Given the description of an element on the screen output the (x, y) to click on. 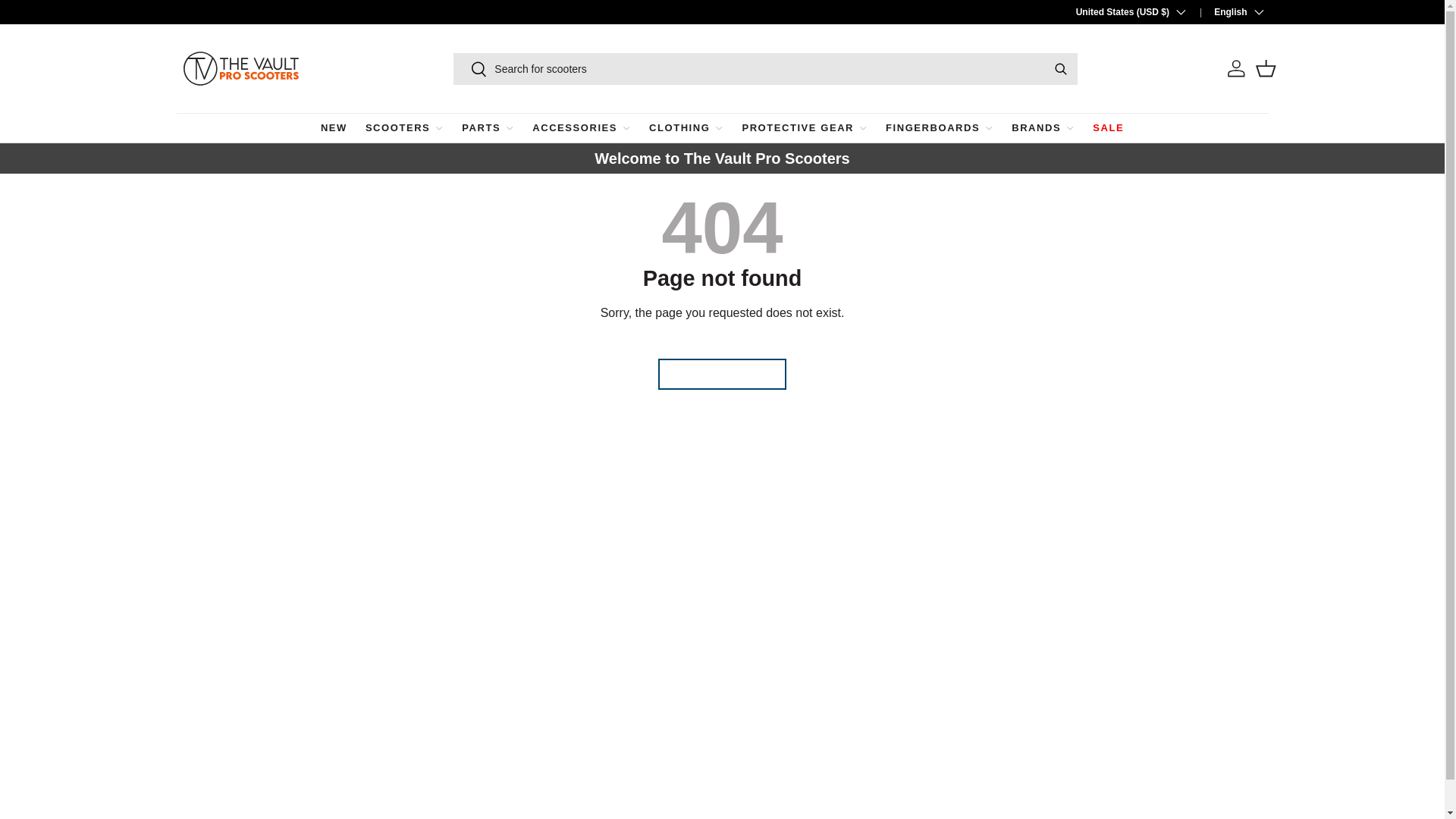
NEW (333, 128)
Search (469, 69)
Basket (1265, 68)
Log in (1235, 68)
SKIP TO CONTENT (26, 20)
PARTS (487, 128)
English (1229, 11)
SCOOTERS (404, 128)
